Given the description of an element on the screen output the (x, y) to click on. 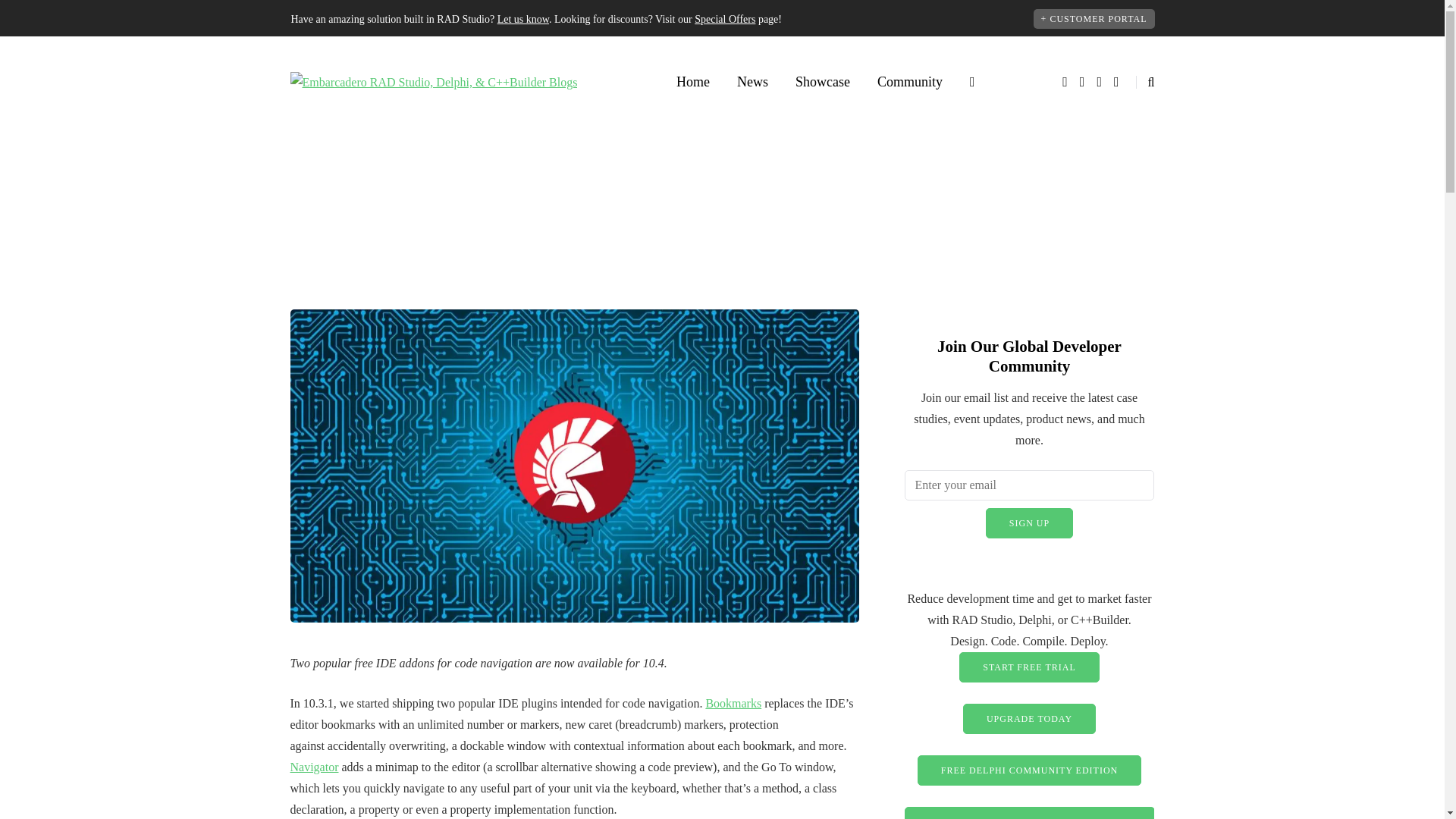
Special Offers (724, 19)
Let us know (522, 19)
Community (909, 81)
Home (692, 81)
Showcase (822, 81)
News (752, 81)
Search (43, 15)
